Given the description of an element on the screen output the (x, y) to click on. 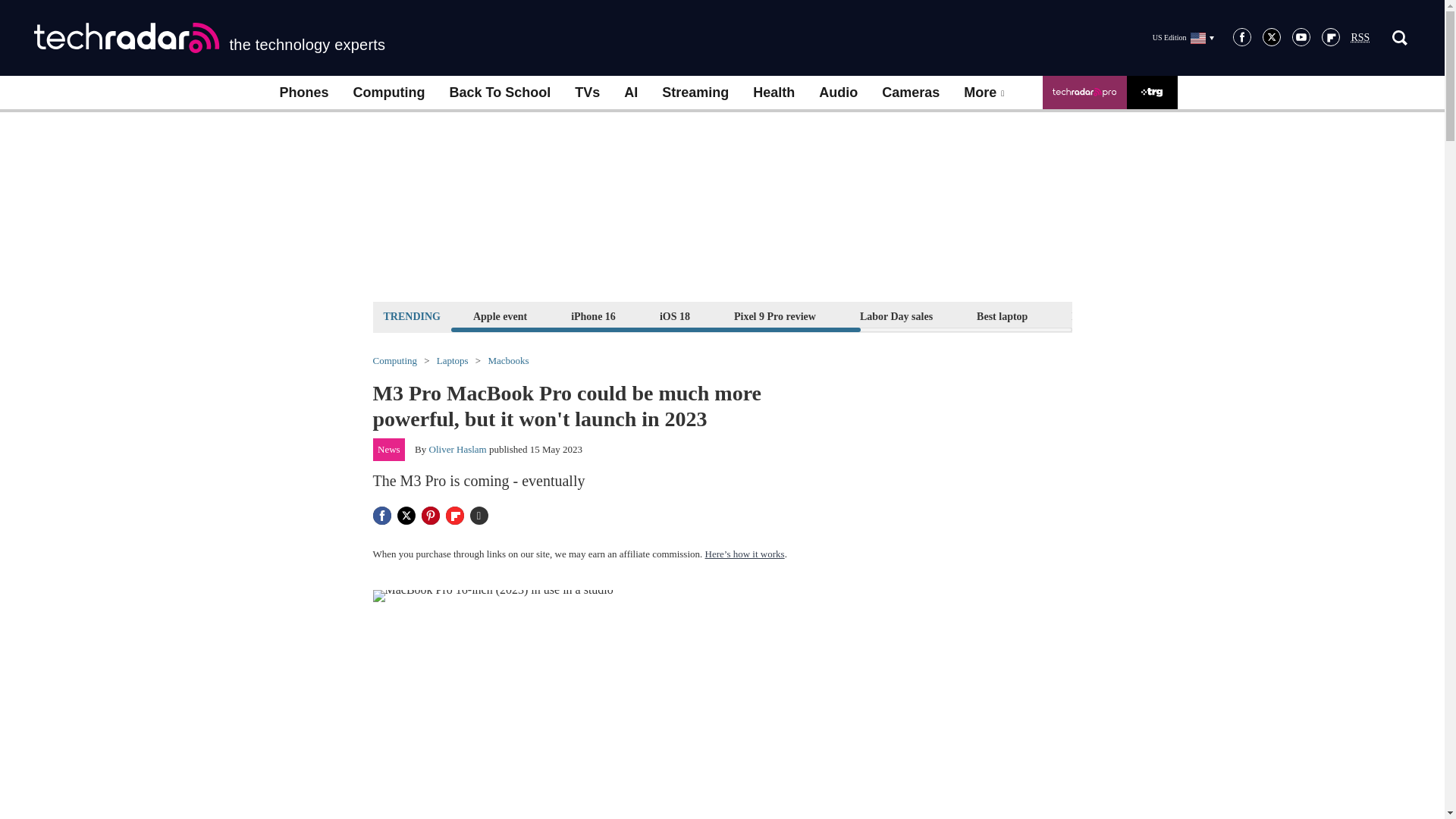
Streaming (695, 92)
the technology experts (209, 38)
Health (773, 92)
Phones (303, 92)
Really Simple Syndication (1360, 37)
US Edition (1182, 37)
TVs (586, 92)
Computing (389, 92)
Audio (837, 92)
Cameras (910, 92)
